Given the description of an element on the screen output the (x, y) to click on. 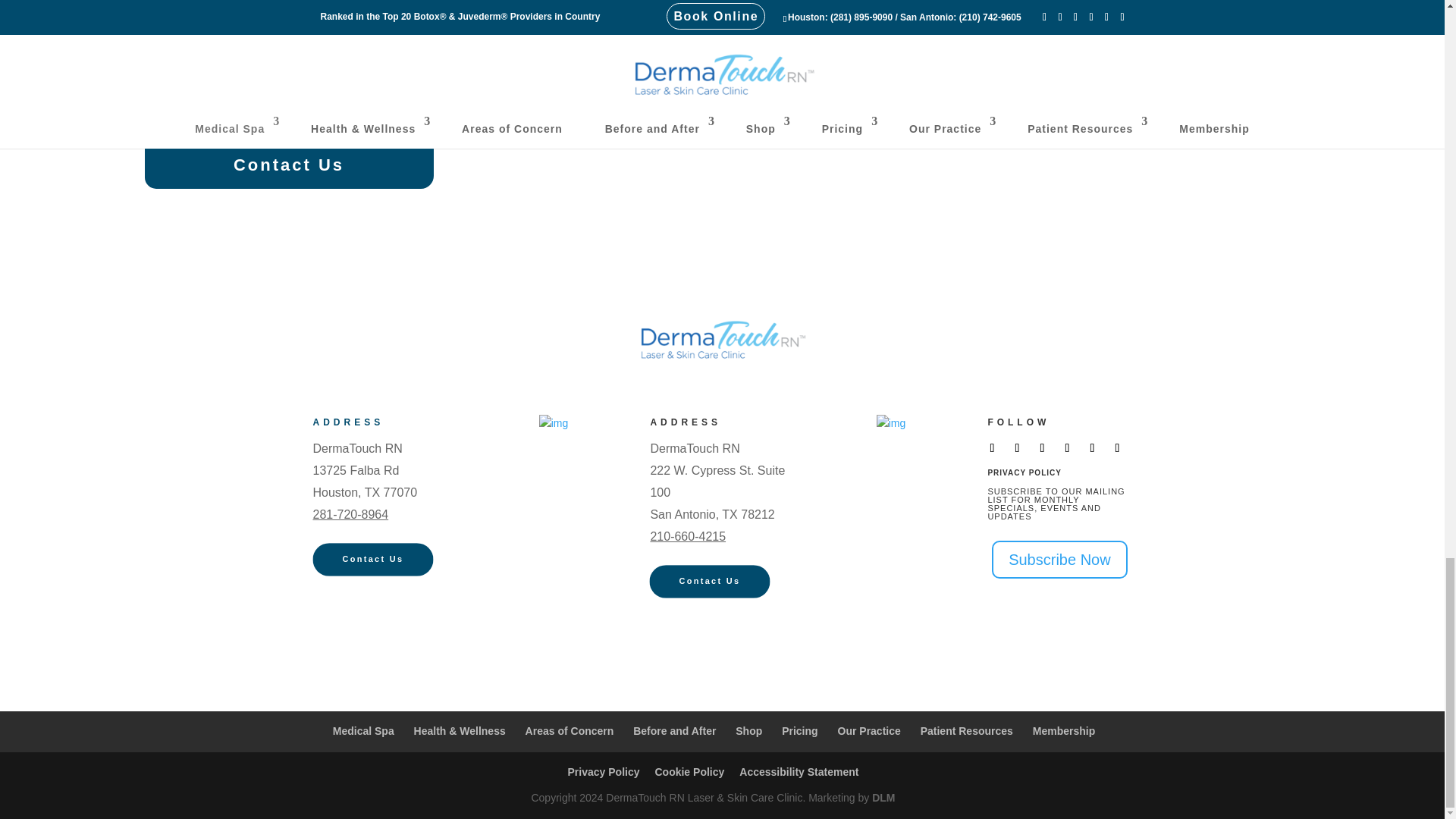
Follow on Instagram (1041, 447)
Follow on Twitter (1016, 447)
Follow on Youtube (1066, 447)
Follow on LinkedIn (1117, 447)
Follow on Pinterest (1091, 447)
Follow on Facebook (991, 447)
